Given the description of an element on the screen output the (x, y) to click on. 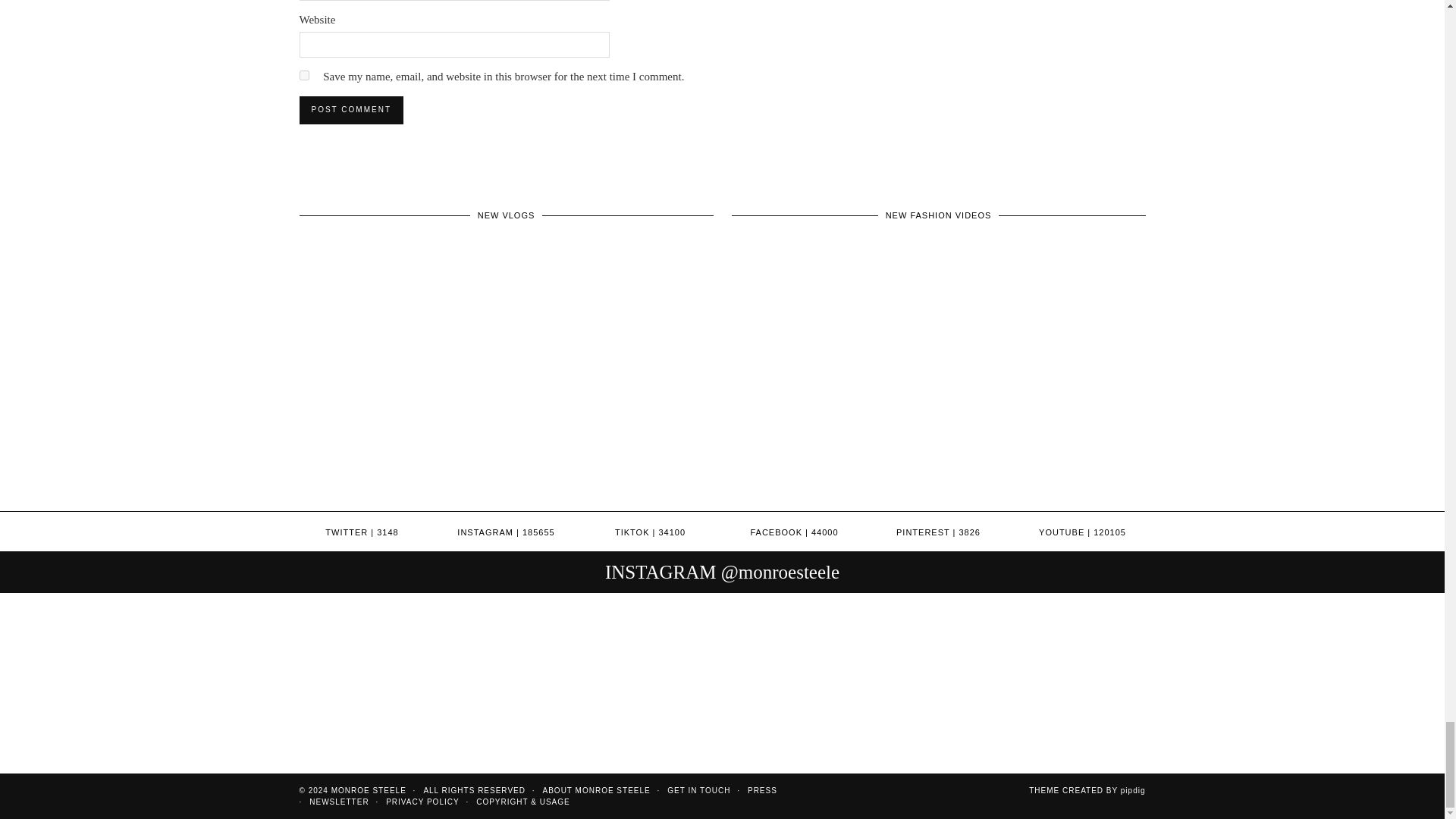
Post Comment (350, 109)
yes (303, 75)
